Given the description of an element on the screen output the (x, y) to click on. 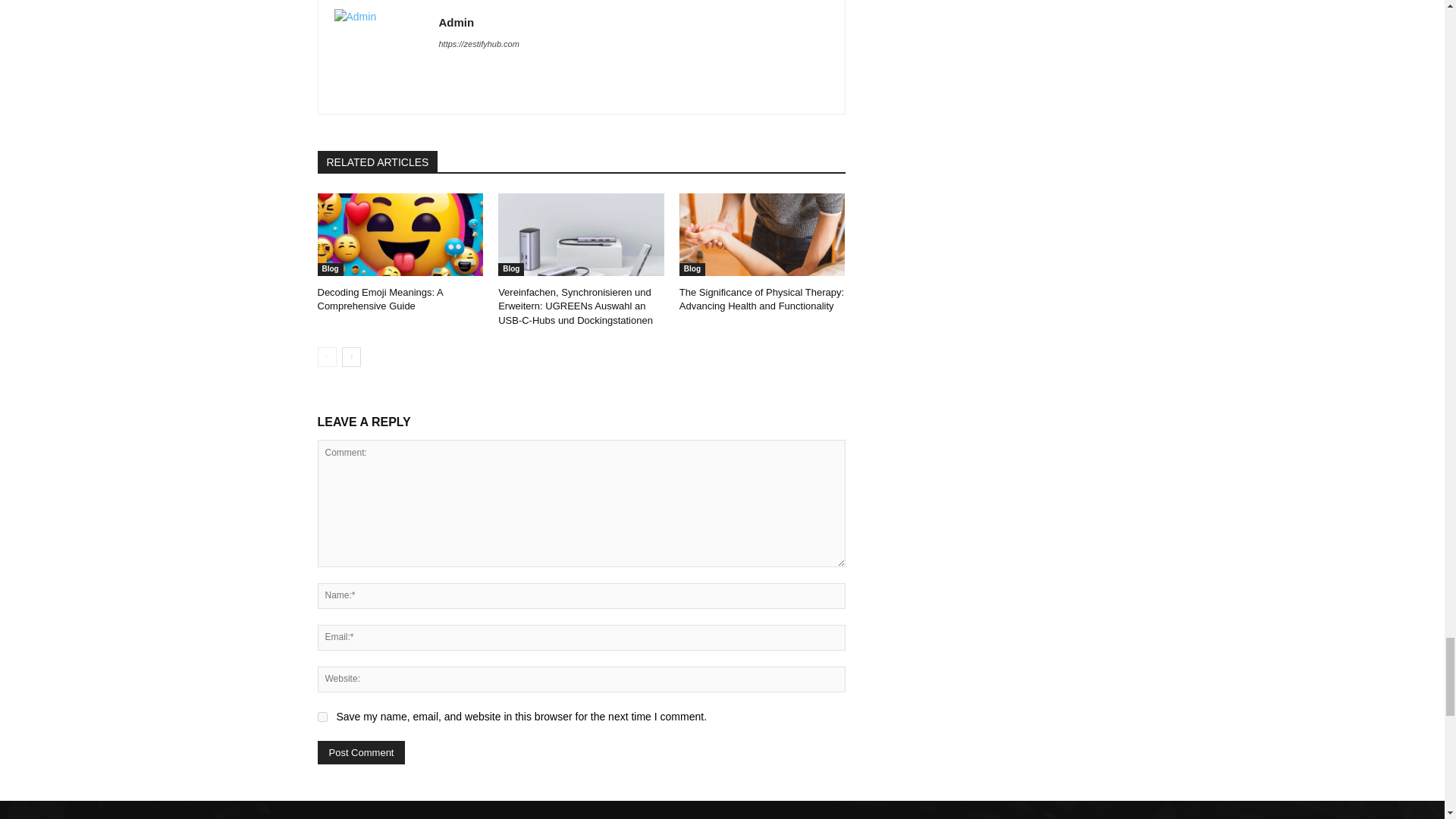
Post Comment (360, 752)
yes (321, 716)
